Given the description of an element on the screen output the (x, y) to click on. 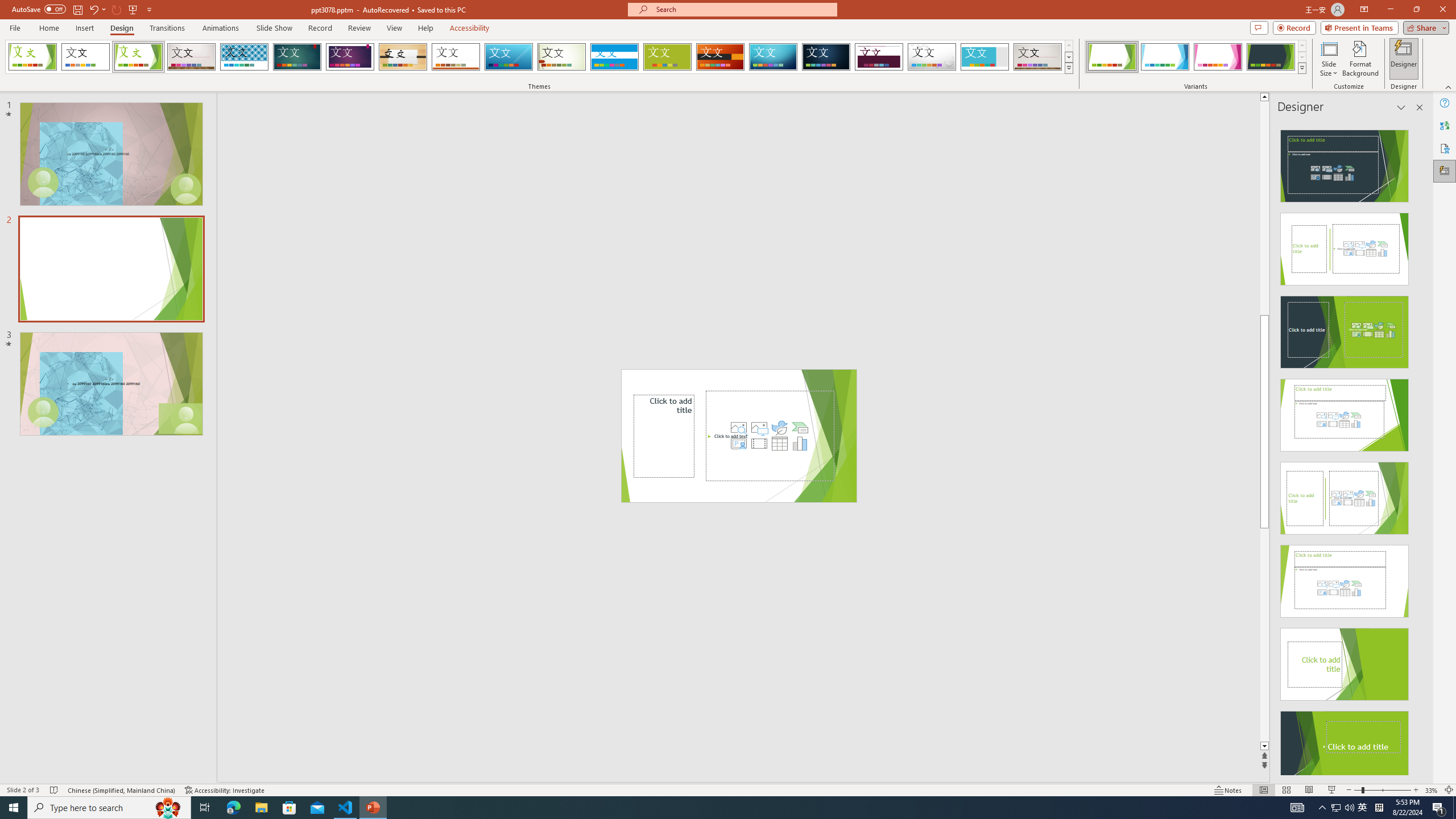
Gallery (1037, 56)
Pictures (758, 427)
Slide Size (1328, 58)
Insert Table (779, 443)
Facet Variant 3 (1217, 56)
